Given the description of an element on the screen output the (x, y) to click on. 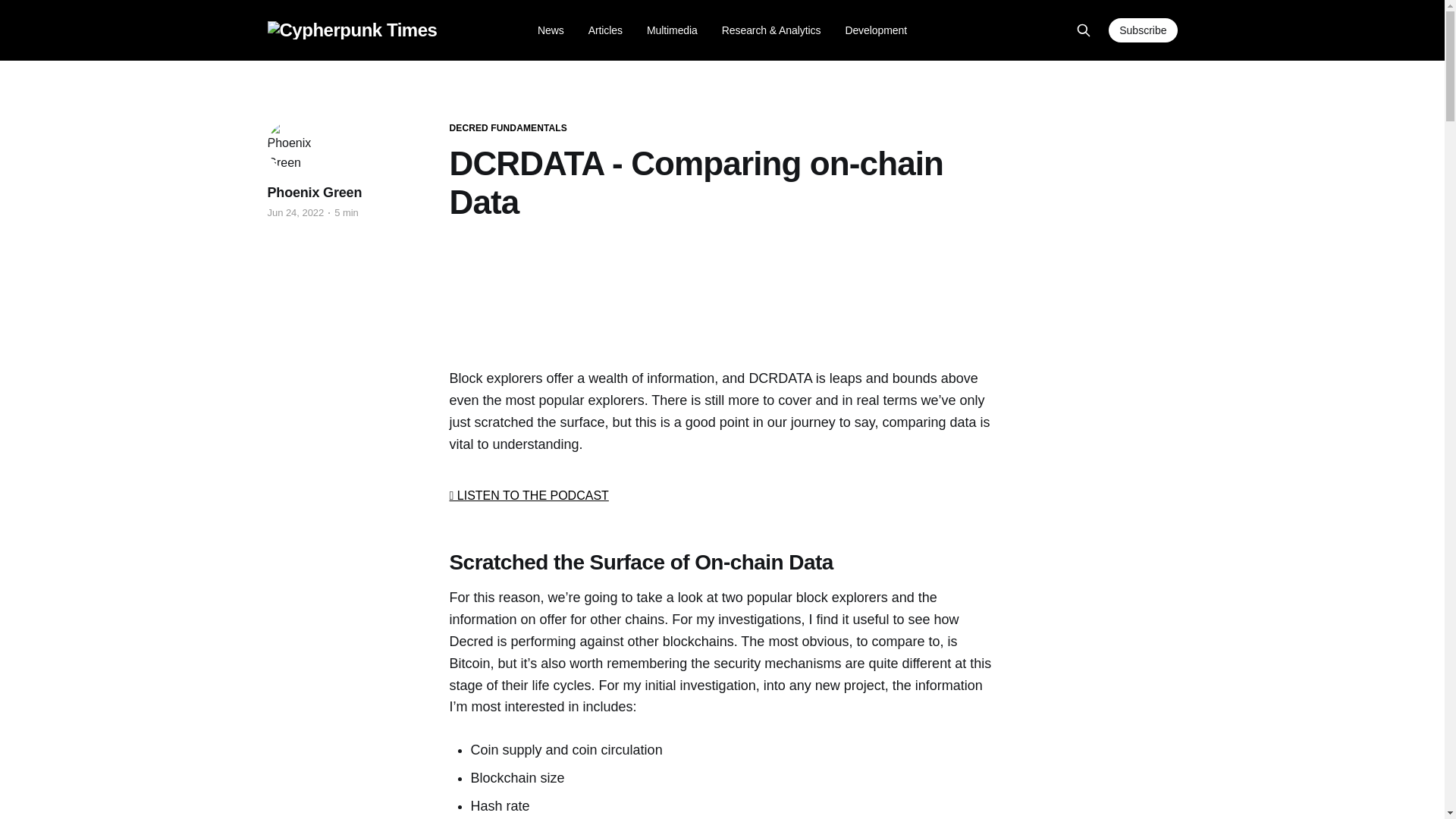
DECRED FUNDAMENTALS (507, 128)
Subscribe (1142, 30)
Phoenix Green (313, 192)
News (550, 30)
Multimedia (671, 30)
Articles (605, 30)
Development (875, 30)
DCRDATA - Comparing On-chain Data (721, 294)
